Given the description of an element on the screen output the (x, y) to click on. 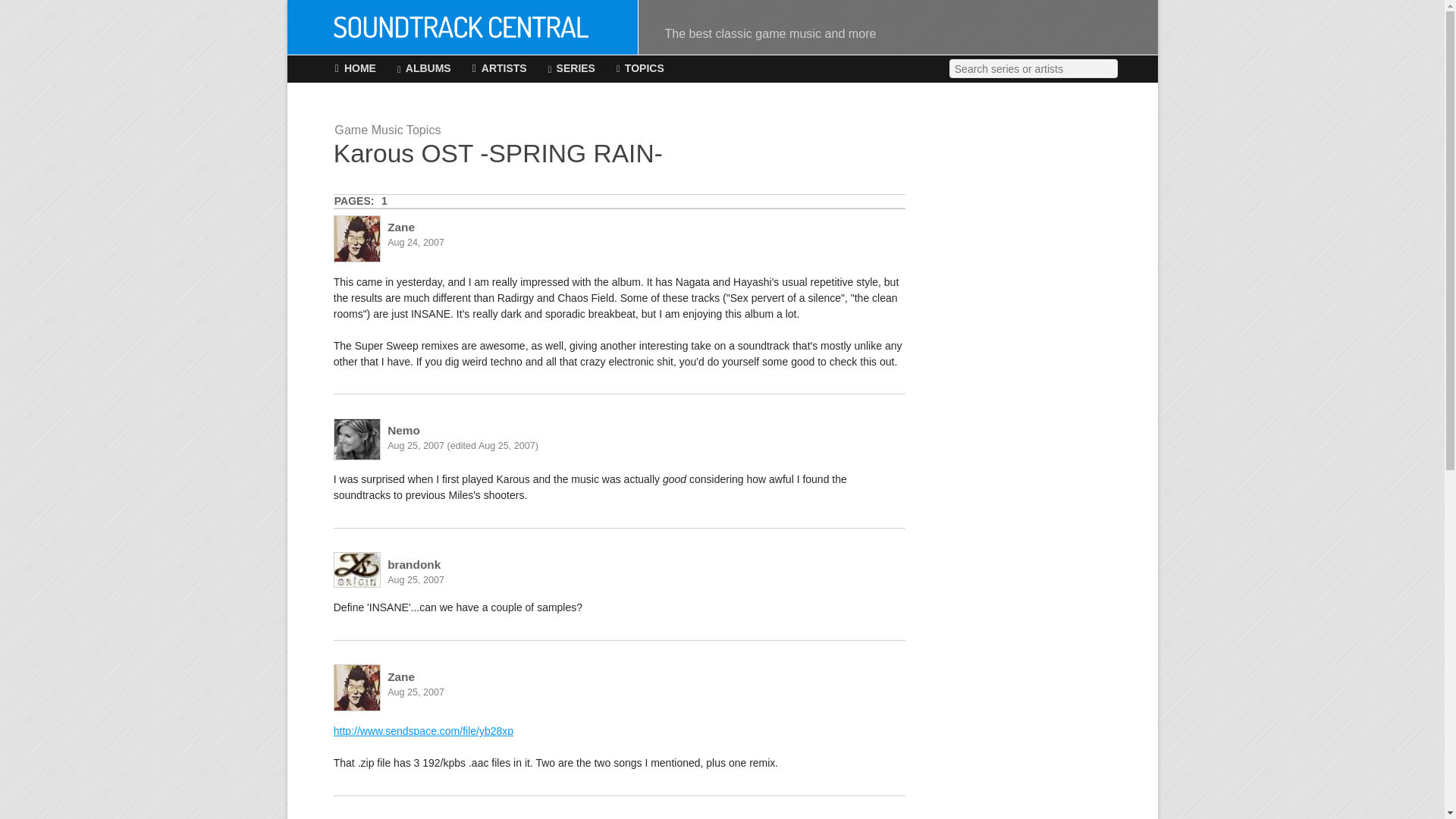
TOPICS (639, 68)
HOME (354, 68)
ALBUMS (424, 68)
SERIES (571, 68)
ARTISTS (499, 68)
